Given the description of an element on the screen output the (x, y) to click on. 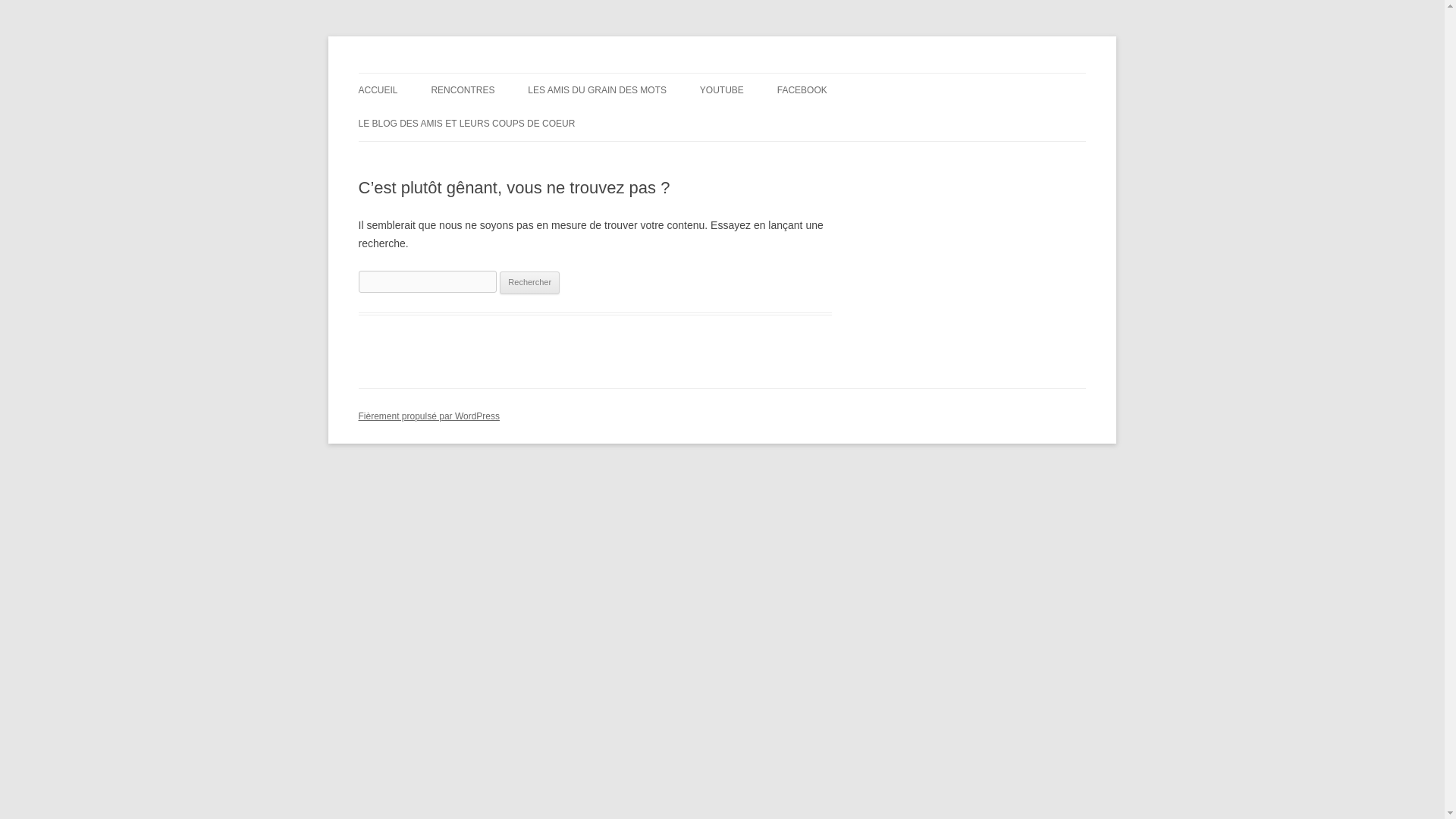
ACCUEIL (377, 90)
FACEBOOK (802, 90)
LES AMIS DU GRAIN DES MOTS (596, 90)
Rechercher (529, 282)
Rechercher (529, 282)
YOUTUBE (722, 90)
RENCONTRES (462, 90)
LE BLOG DES AMIS ET LEURS COUPS DE COEUR (466, 123)
